Given the description of an element on the screen output the (x, y) to click on. 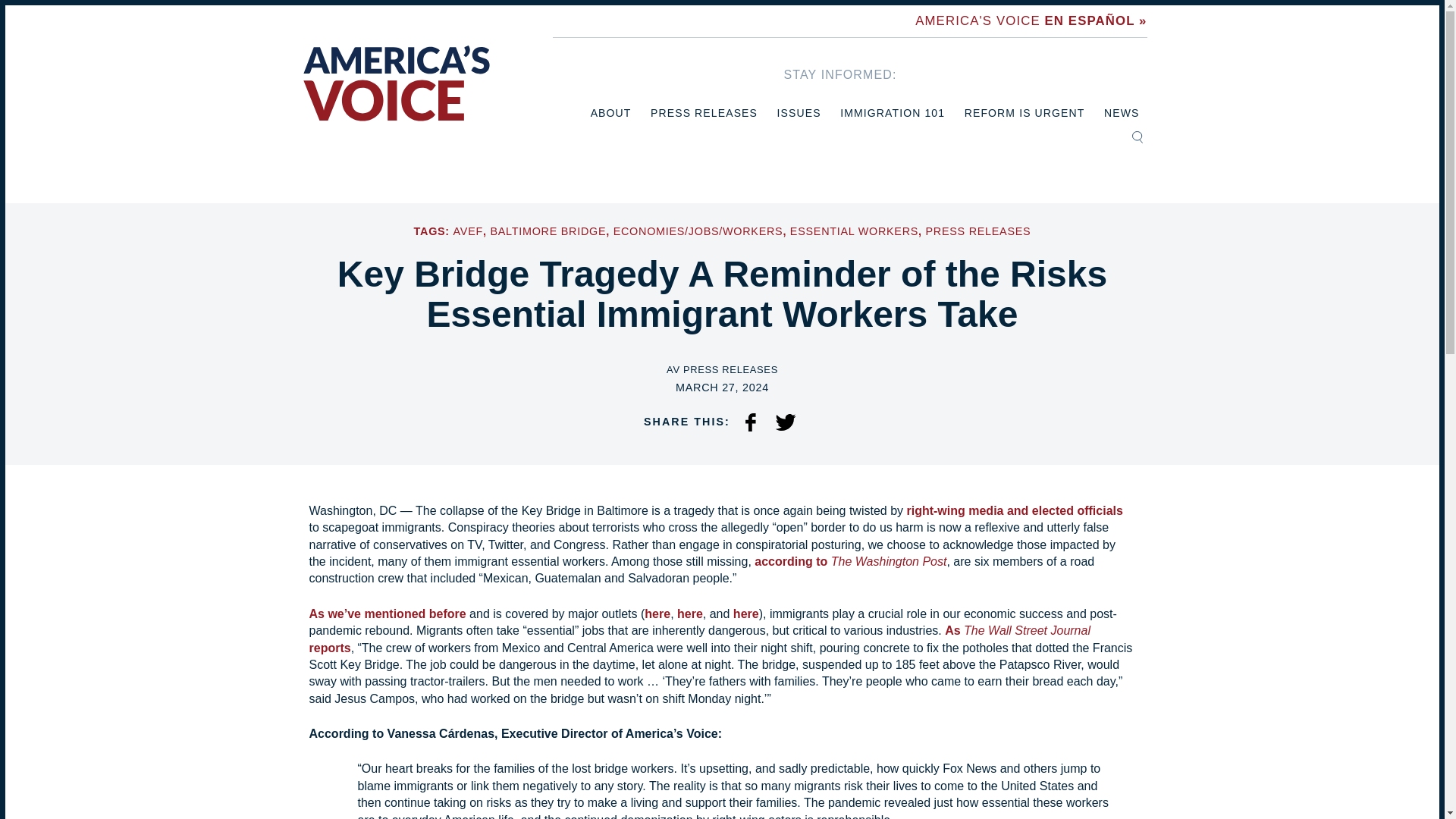
BALTIMORE BRIDGE (547, 231)
according to The Washington Post (850, 561)
As The Wall Street Journal reports (699, 638)
REFORM IS URGENT (1023, 112)
here (657, 613)
AVEF (467, 231)
here (690, 613)
ABOUT (611, 112)
right-wing media and elected officials (1013, 510)
ESSENTIAL WORKERS (854, 231)
